Given the description of an element on the screen output the (x, y) to click on. 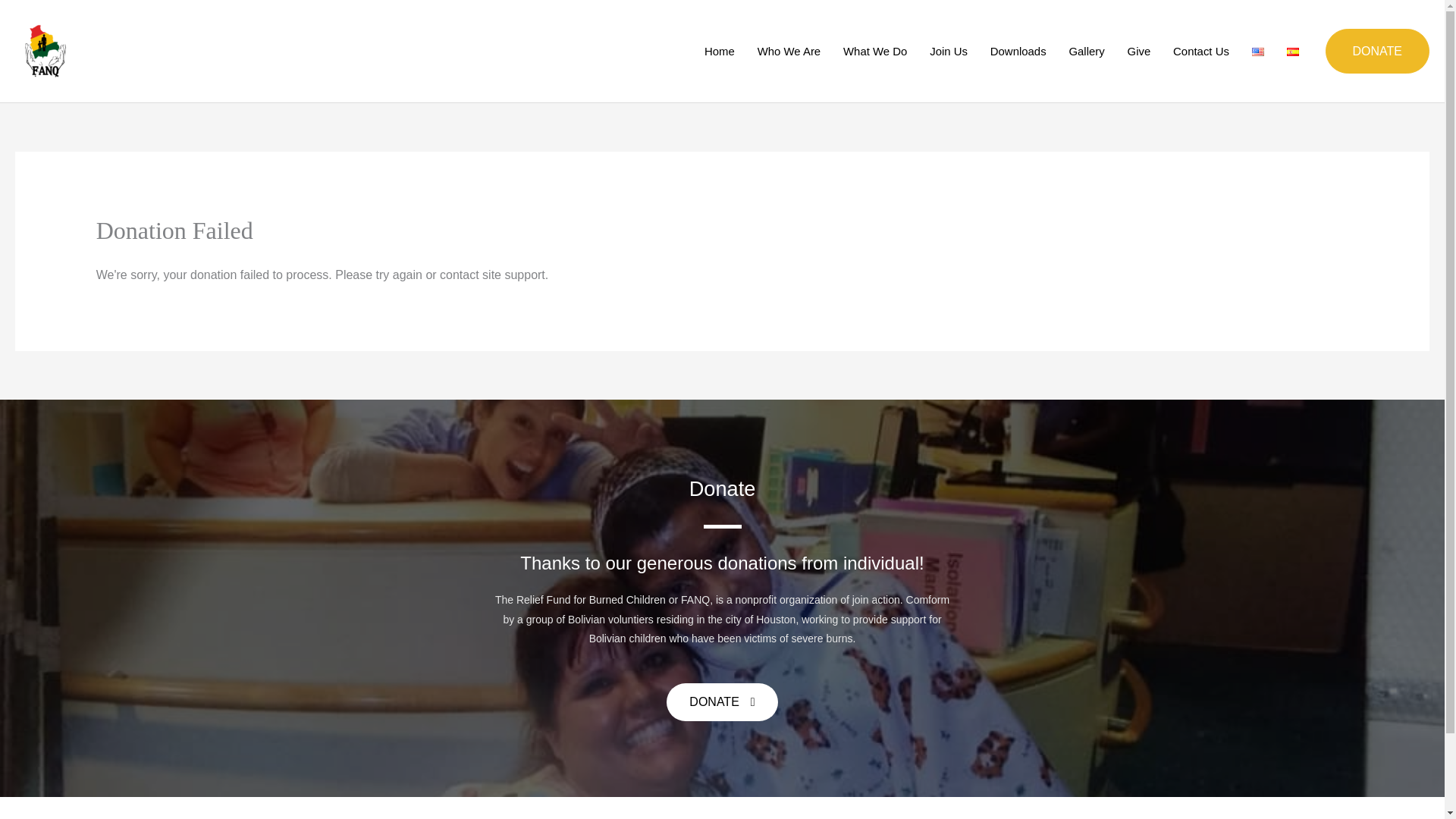
Contact Us (1200, 50)
Join Us (948, 50)
Downloads (1018, 50)
Gallery (1087, 50)
Home (719, 50)
What We Do (874, 50)
DONATE (1376, 51)
Who We Are (788, 50)
DONATE (721, 702)
